Given the description of an element on the screen output the (x, y) to click on. 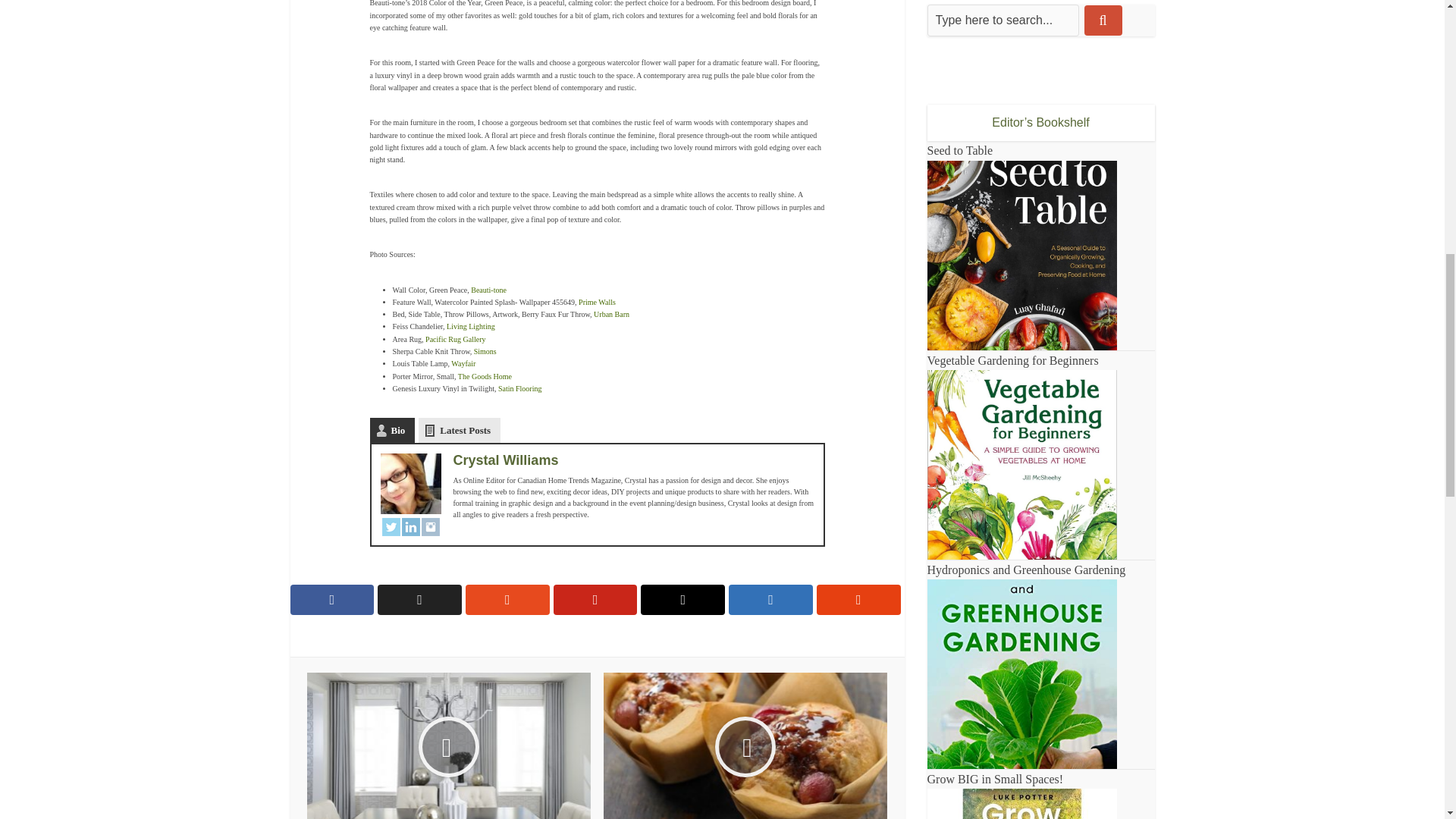
Twitter (390, 526)
Instagram (430, 526)
Type here to search... (1002, 20)
LinkedIn (410, 526)
Type here to search... (1002, 20)
